Given the description of an element on the screen output the (x, y) to click on. 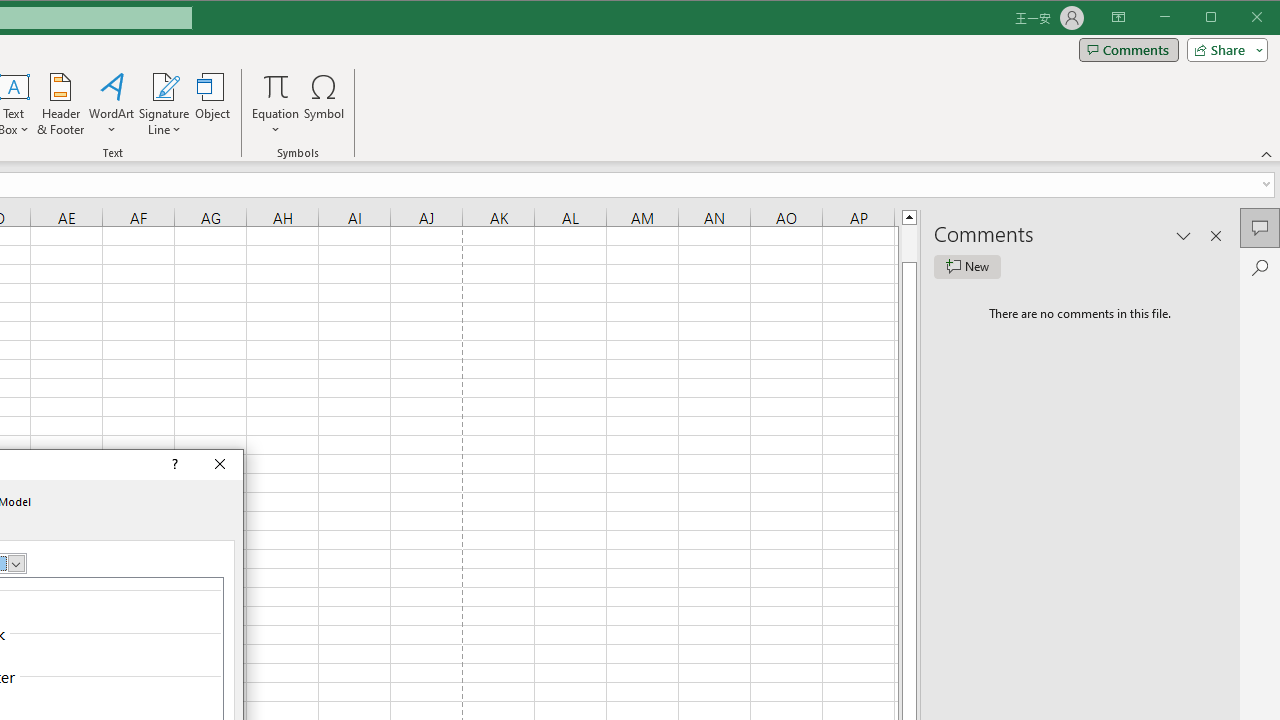
Symbol... (324, 104)
Collapse the Ribbon (1267, 154)
Page up (909, 243)
Context help (173, 465)
Comments (1260, 227)
Equation (275, 86)
Ribbon Display Options (1118, 17)
Header & Footer... (60, 104)
Open (16, 563)
Line up (909, 216)
